Given the description of an element on the screen output the (x, y) to click on. 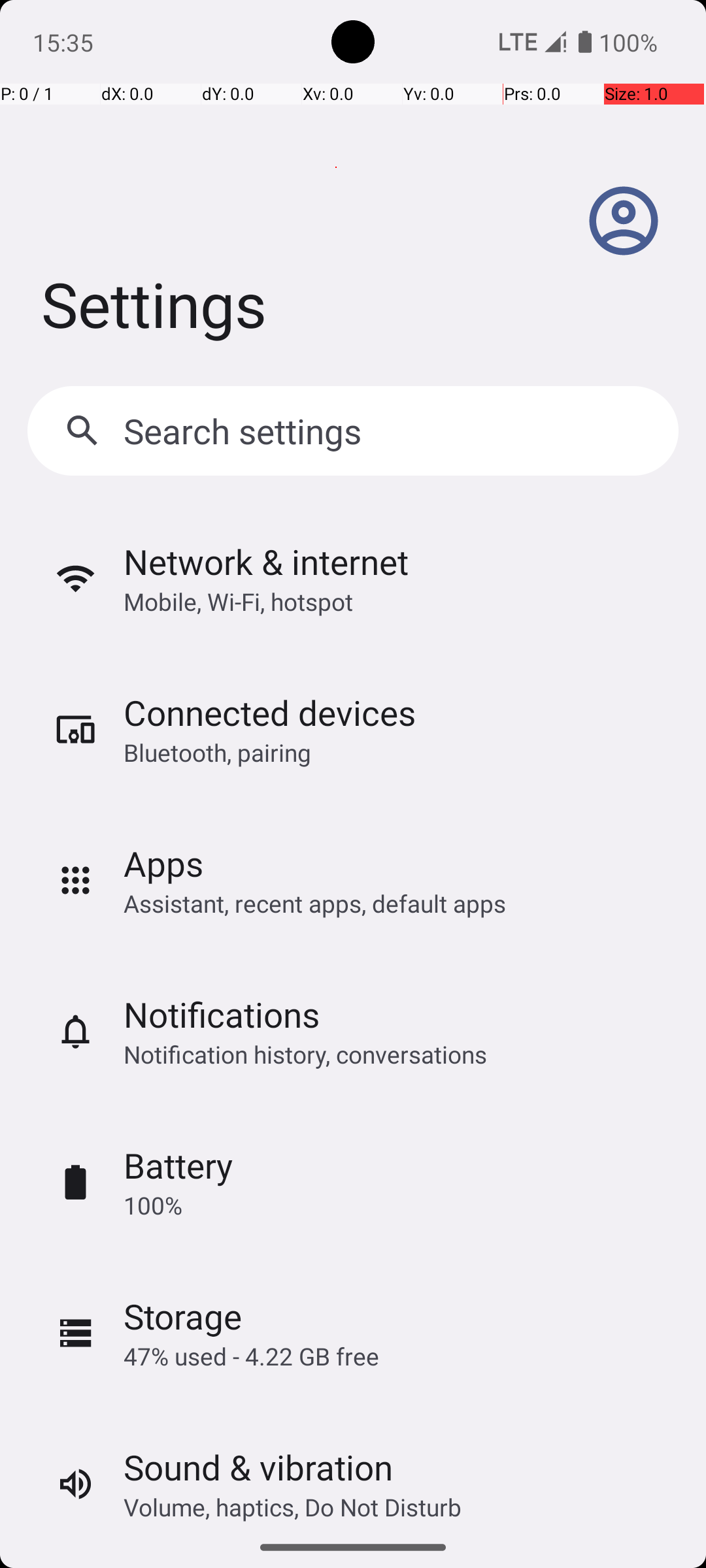
47% used - 4.22 GB free Element type: android.widget.TextView (251, 1355)
